Given the description of an element on the screen output the (x, y) to click on. 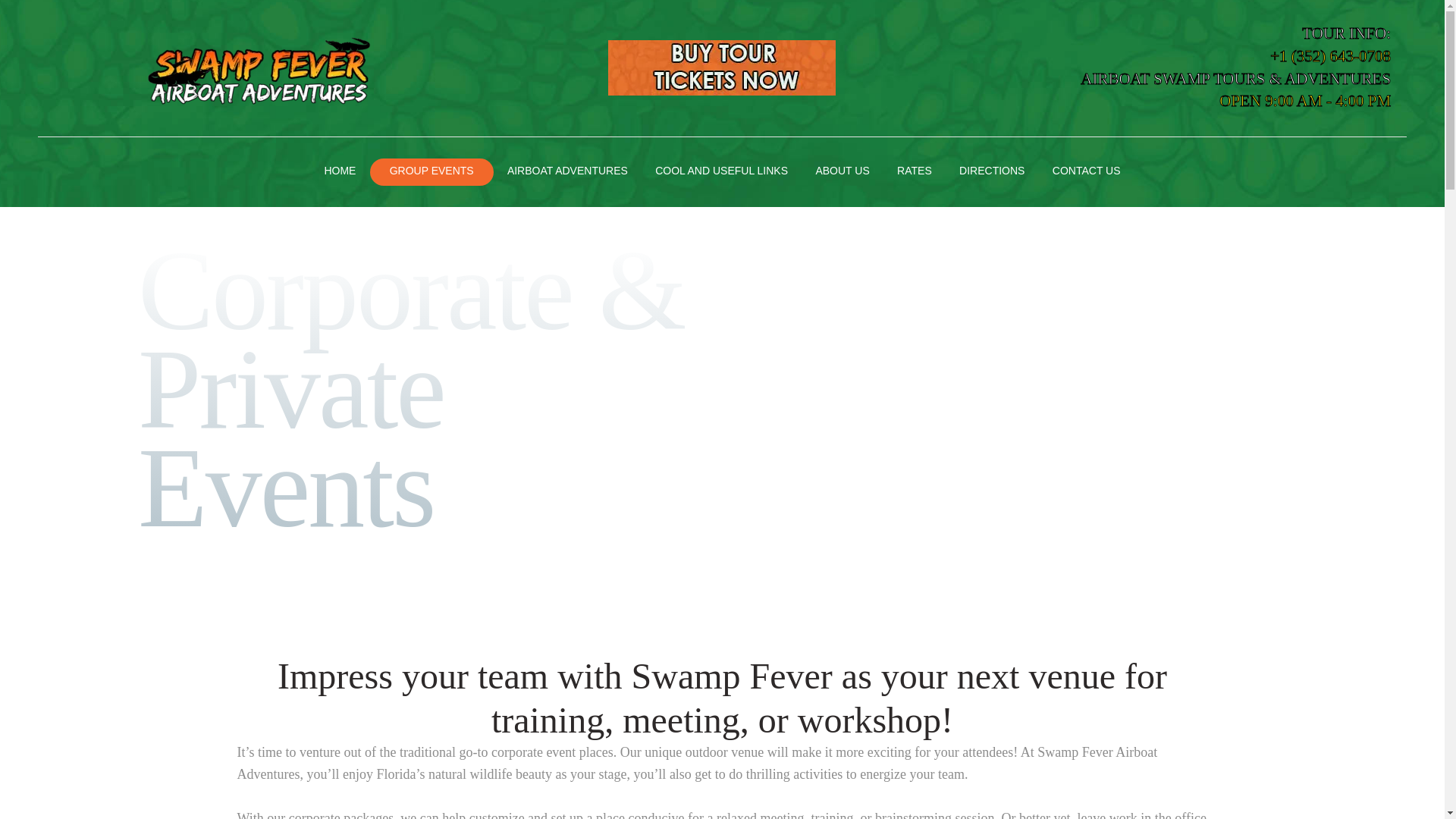
RATES (913, 171)
COOL AND USEFUL LINKS (722, 171)
DIRECTIONS (991, 171)
ABOUT US (842, 171)
GROUP EVENTS (431, 171)
AIRBOAT ADVENTURES (567, 171)
HOME (339, 171)
CONTACT US (1086, 171)
